Given the description of an element on the screen output the (x, y) to click on. 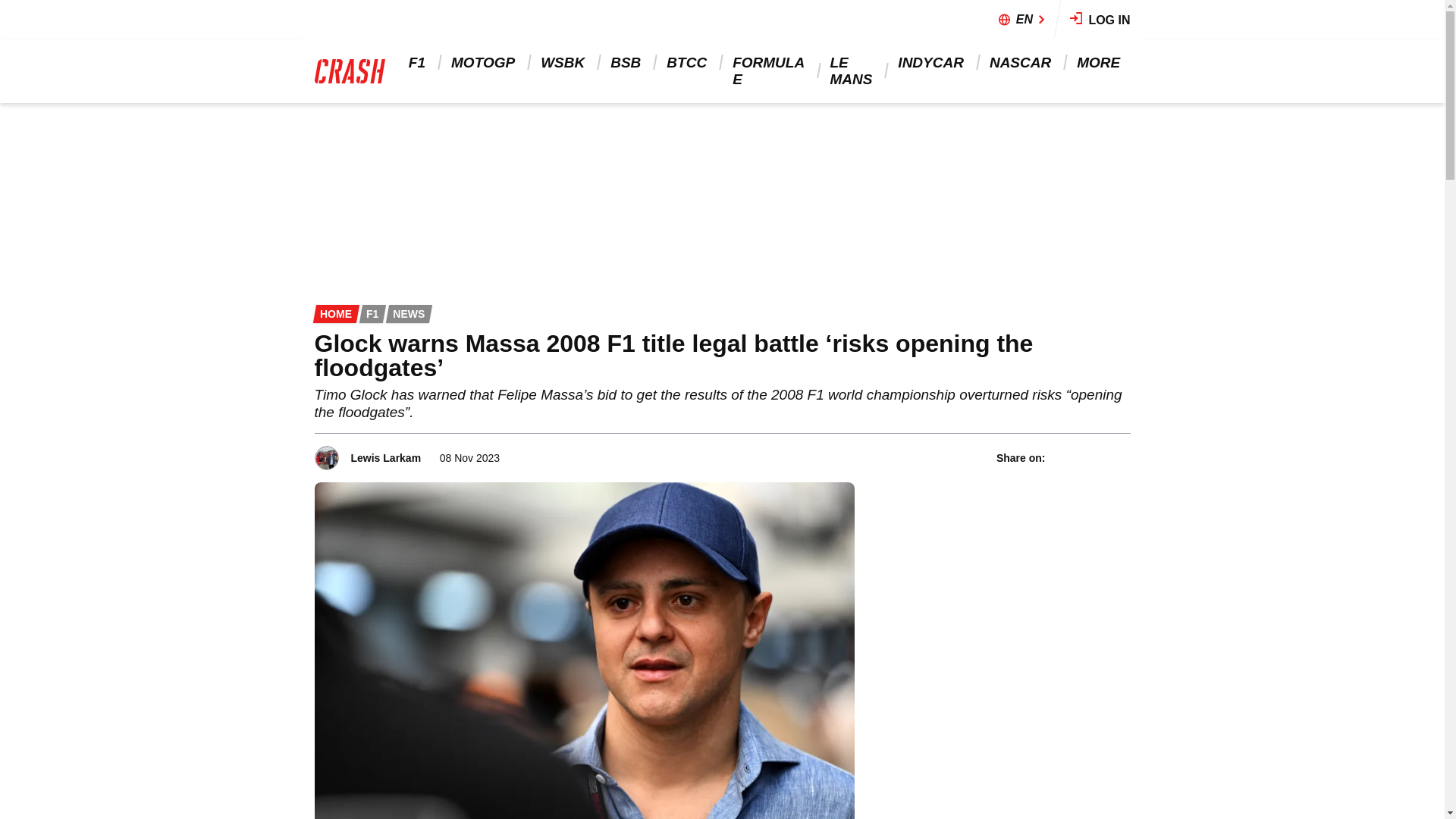
MOTOGP (484, 62)
WSBK (563, 62)
F1 (418, 62)
BSB (626, 62)
Share to X (1080, 458)
Share to Facebook (1060, 458)
Share to Linkedin (1099, 458)
Share to Email (1119, 458)
LOG IN (1100, 19)
